Given the description of an element on the screen output the (x, y) to click on. 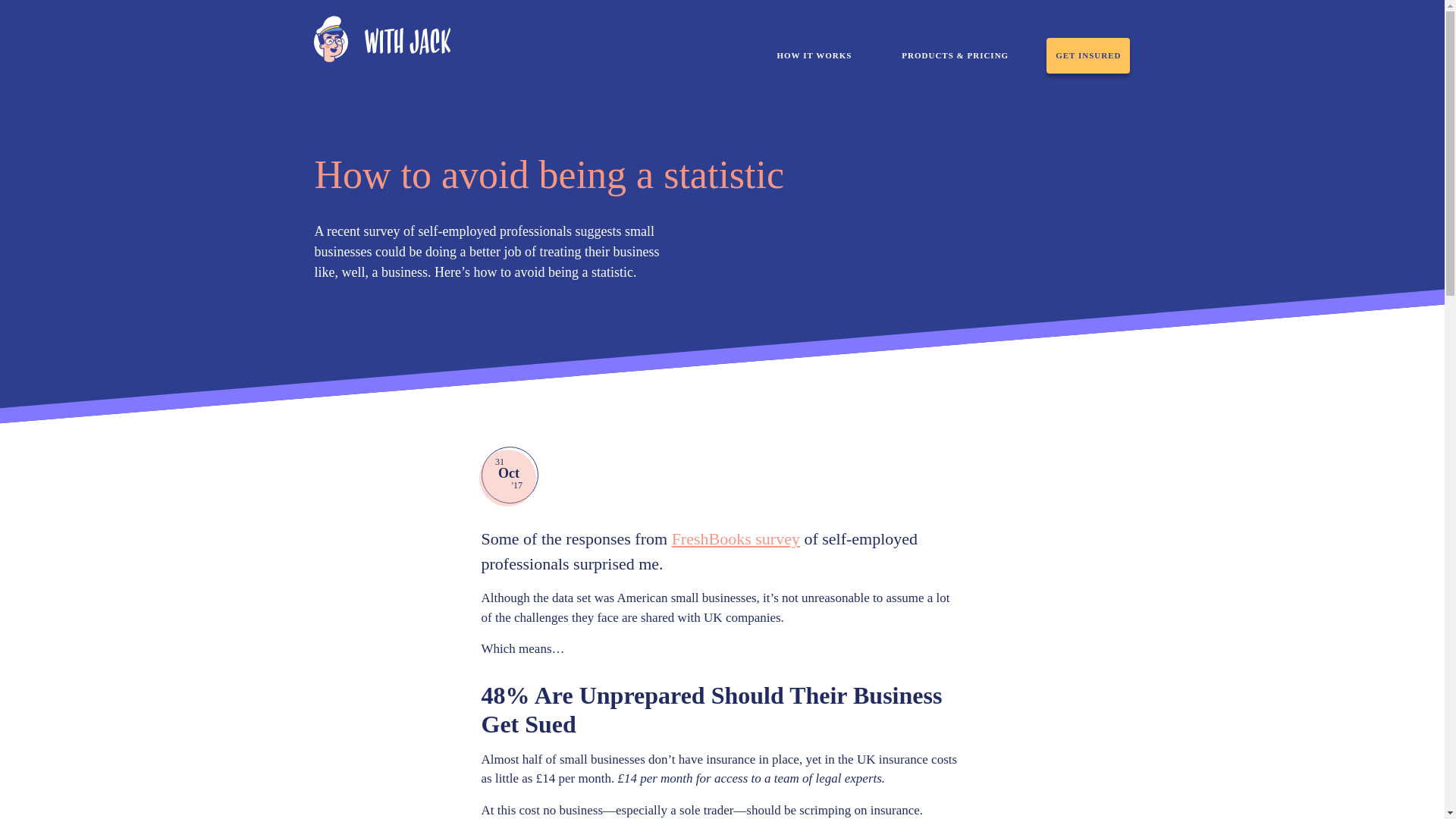
FreshBooks survey (735, 538)
HOW IT WORKS (813, 55)
GET INSURED (1087, 55)
